Given the description of an element on the screen output the (x, y) to click on. 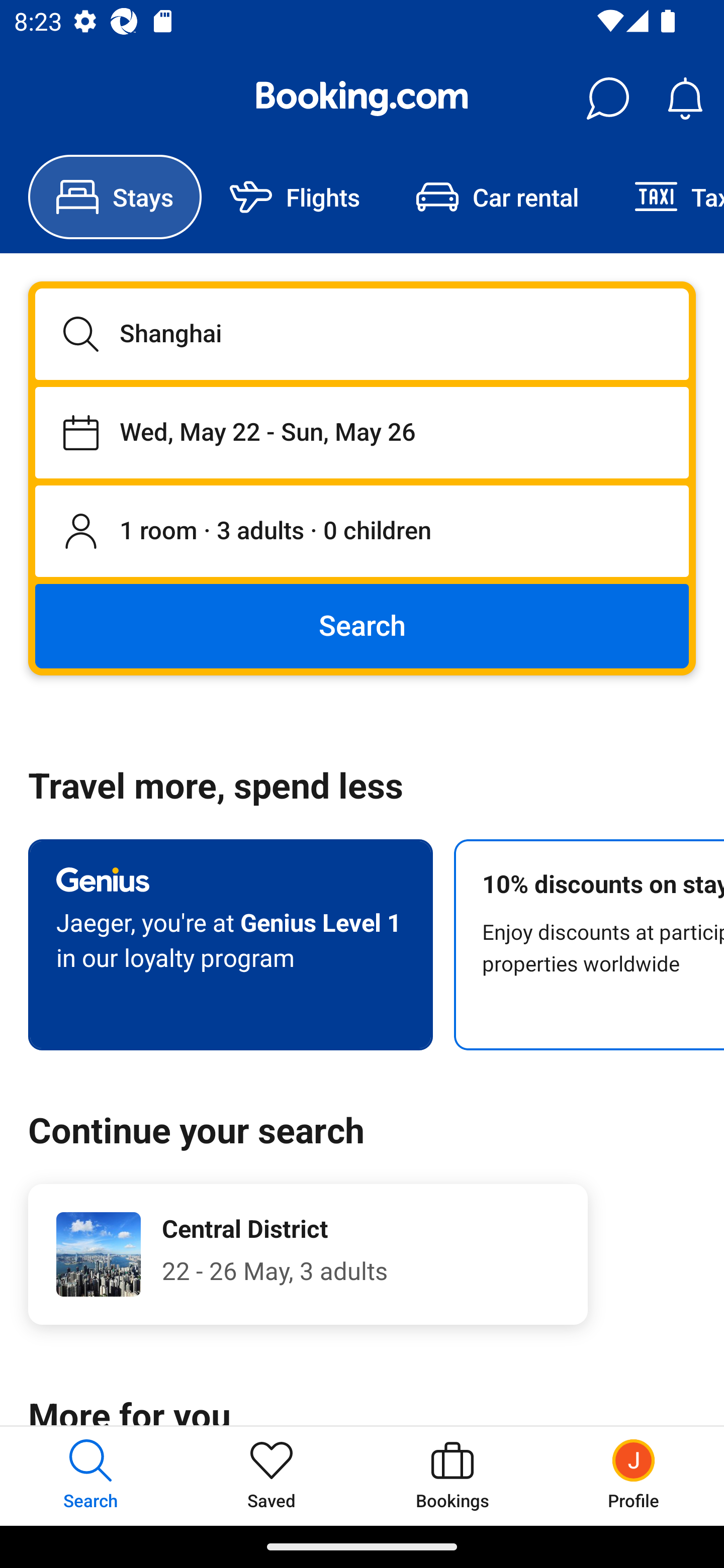
Messages (607, 98)
Notifications (685, 98)
Stays (114, 197)
Flights (294, 197)
Car rental (497, 197)
Taxi (665, 197)
Shanghai (361, 333)
Staying from Wed, May 22 until Sun, May 26 (361, 432)
1 room, 3 adults, 0 children (361, 531)
Search (361, 625)
Central District 22 - 26 May, 3 adults (307, 1253)
Saved (271, 1475)
Bookings (452, 1475)
Profile (633, 1475)
